Given the description of an element on the screen output the (x, y) to click on. 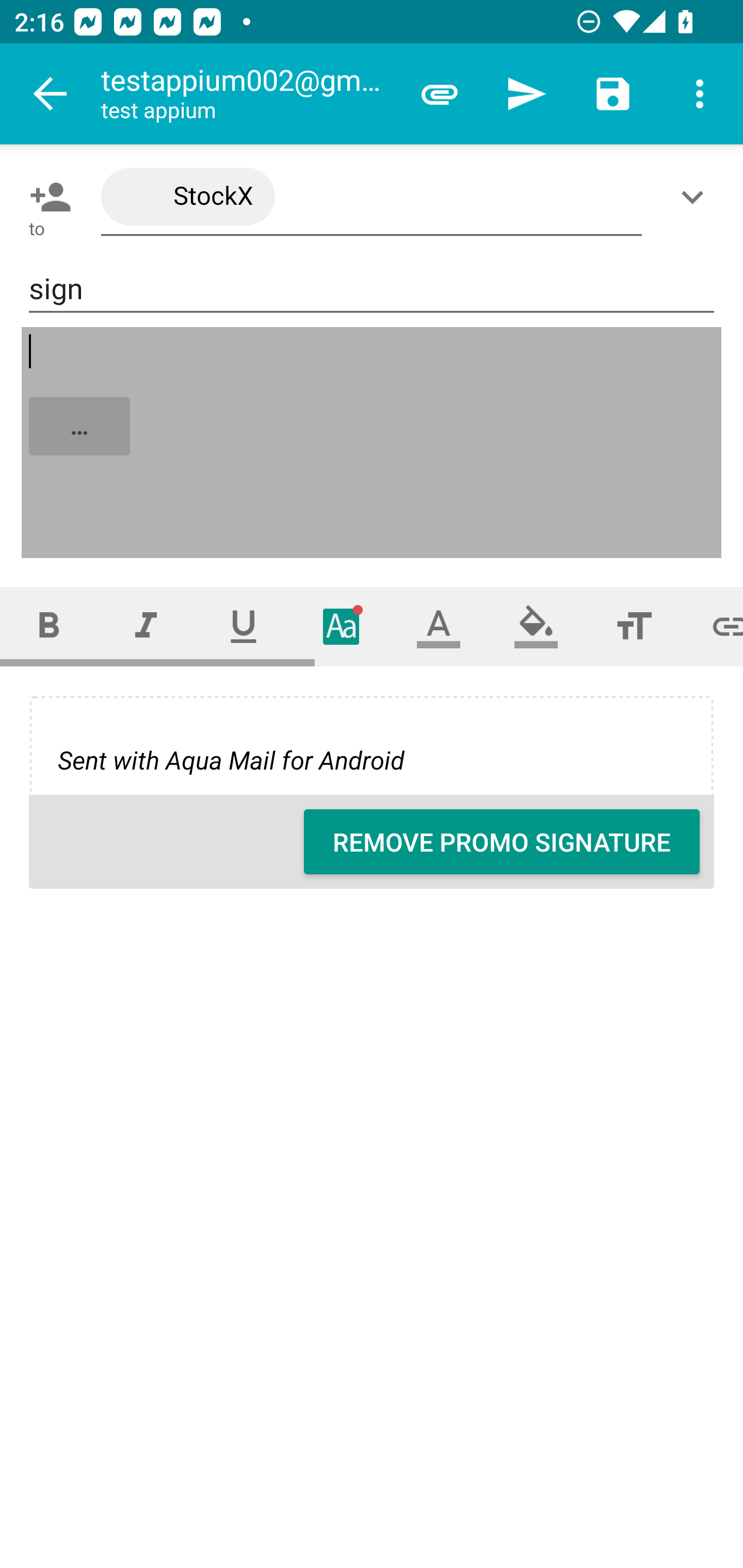
Navigate up (50, 93)
testappium002@gmail.com test appium (248, 93)
Attach (439, 93)
Send (525, 93)
Save (612, 93)
More options (699, 93)
StockX <noreply@stockx.com>,  (371, 197)
Pick contact: To (46, 196)
Show/Add CC/BCC (696, 196)
sign (371, 288)

…
 (372, 442)
Bold (48, 626)
Italic (145, 626)
Underline (243, 626)
Typeface (font) (341, 626)
Text color (438, 626)
Fill color (536, 626)
Font size (633, 626)
REMOVE PROMO SIGNATURE (501, 841)
